Given the description of an element on the screen output the (x, y) to click on. 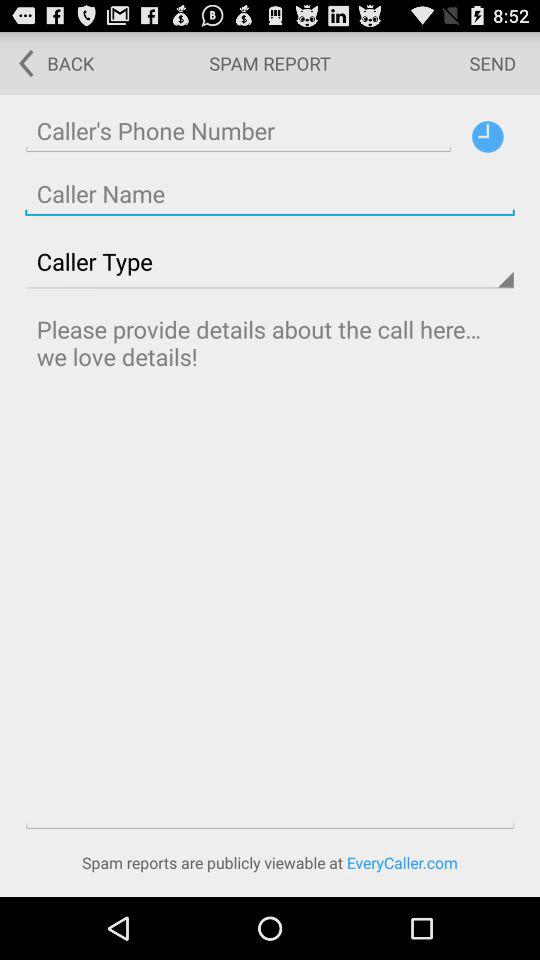
timer option (487, 136)
